Given the description of an element on the screen output the (x, y) to click on. 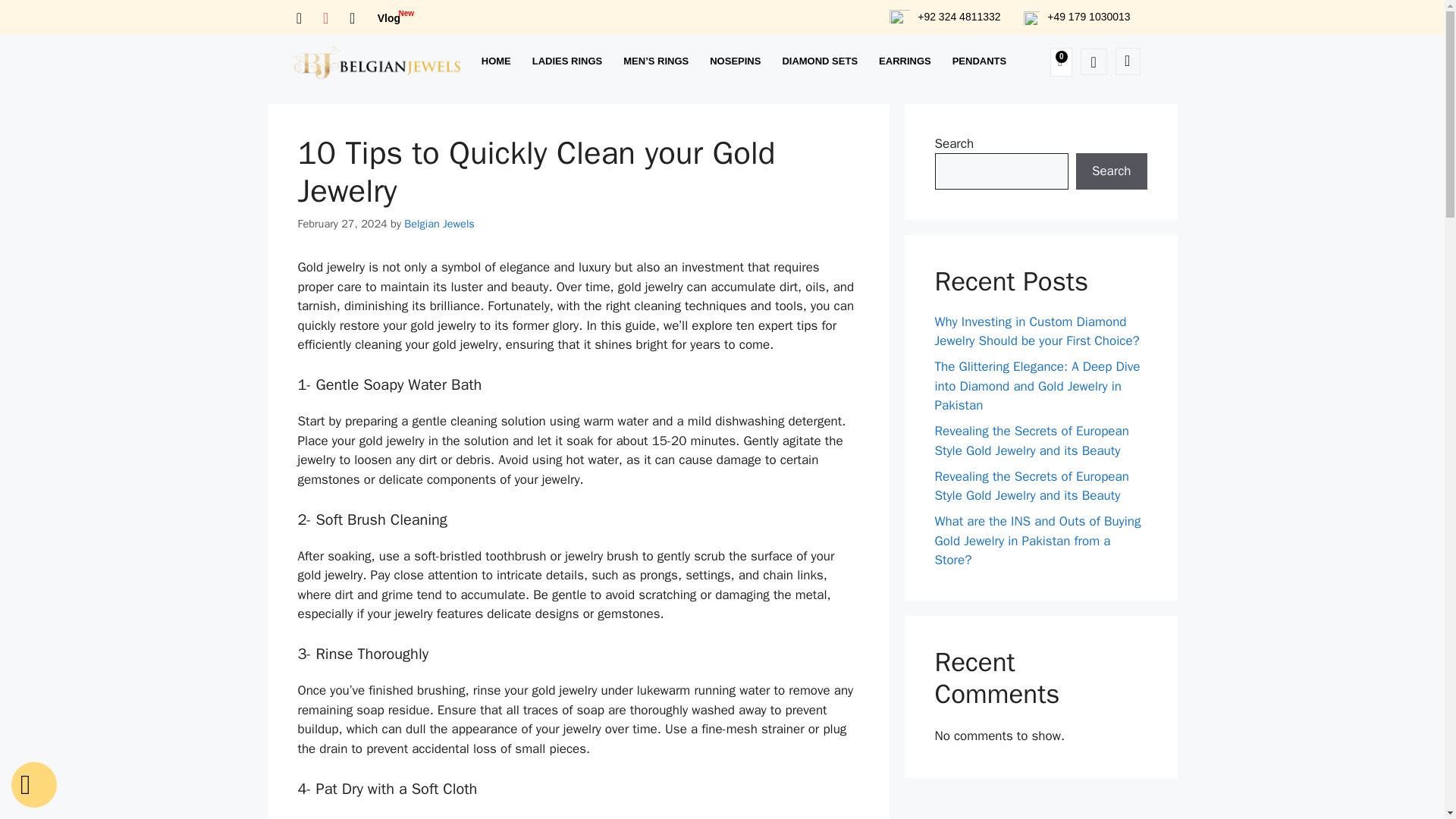
LADIES RINGS (387, 18)
DIAMOND SETS (566, 61)
NOSEPINS (819, 61)
View all posts by Belgian Jewels (734, 61)
PENDANTS (439, 223)
HOME (979, 61)
EARRINGS (495, 61)
